Given the description of an element on the screen output the (x, y) to click on. 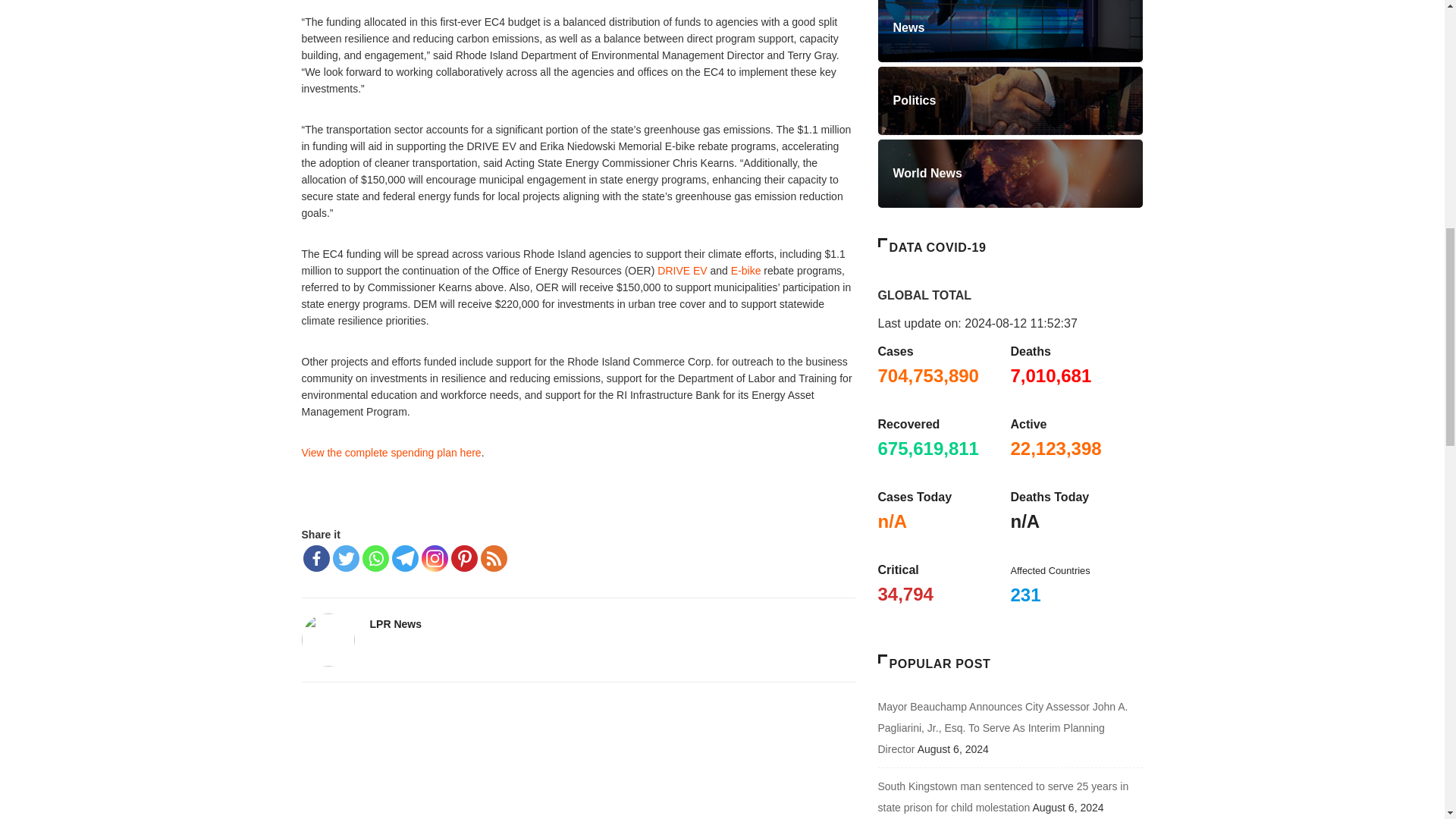
Telegram (404, 558)
Facebook (316, 558)
View the complete spending plan here (391, 452)
Whatsapp (375, 558)
RSS Feed (493, 558)
E-bike (745, 270)
Pinterest (463, 558)
Instagram (435, 558)
Twitter (344, 558)
DRIVE EV (682, 270)
